Given the description of an element on the screen output the (x, y) to click on. 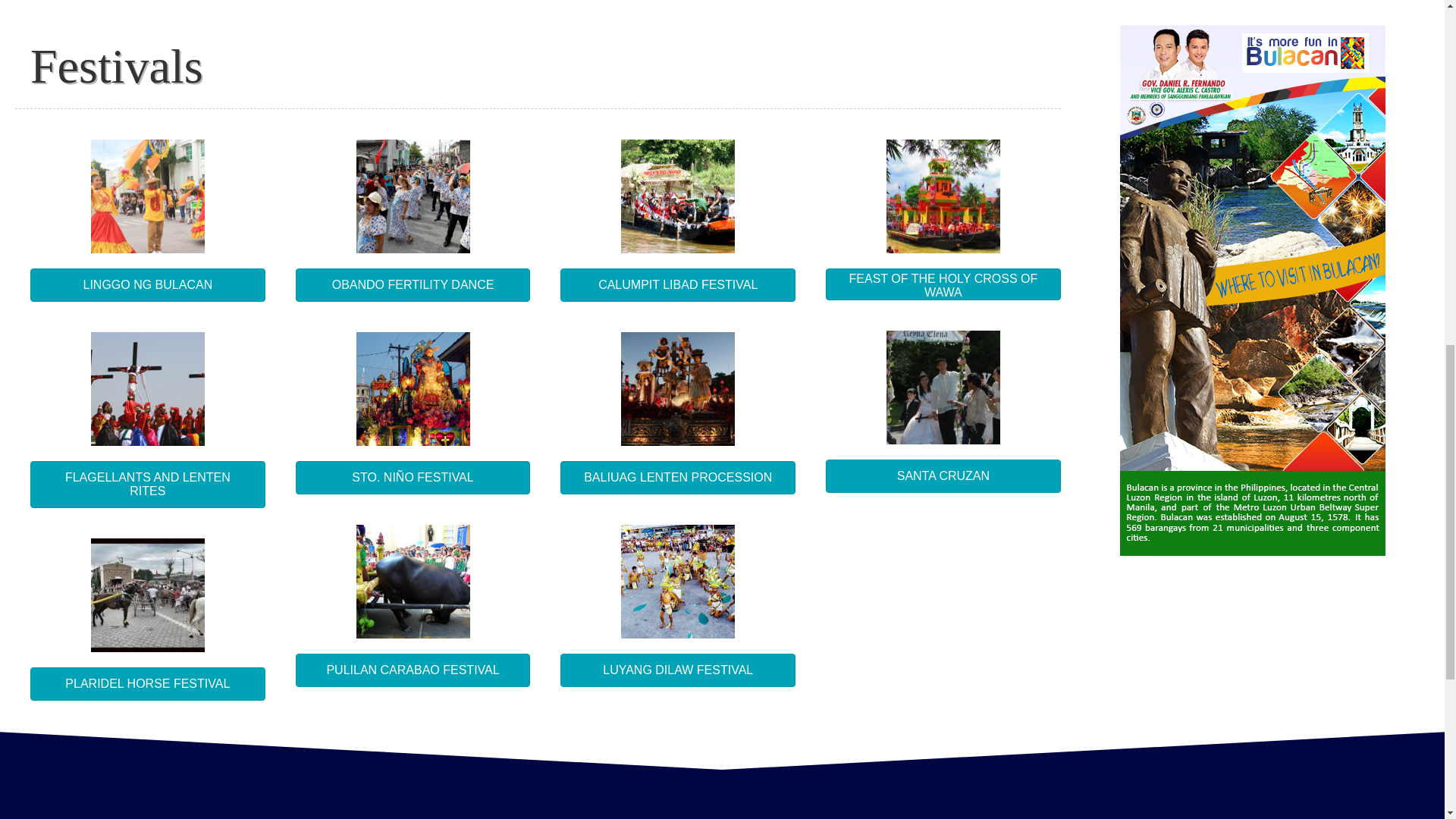
blogger-image--159794656 (147, 594)
wawa (943, 196)
a87f796ddf402734ca4ca0e597d334ed (413, 581)
libad (678, 196)
singkaban (147, 196)
obando (413, 196)
bulacan-statues-holy-week-20150402-014 (678, 388)
